Given the description of an element on the screen output the (x, y) to click on. 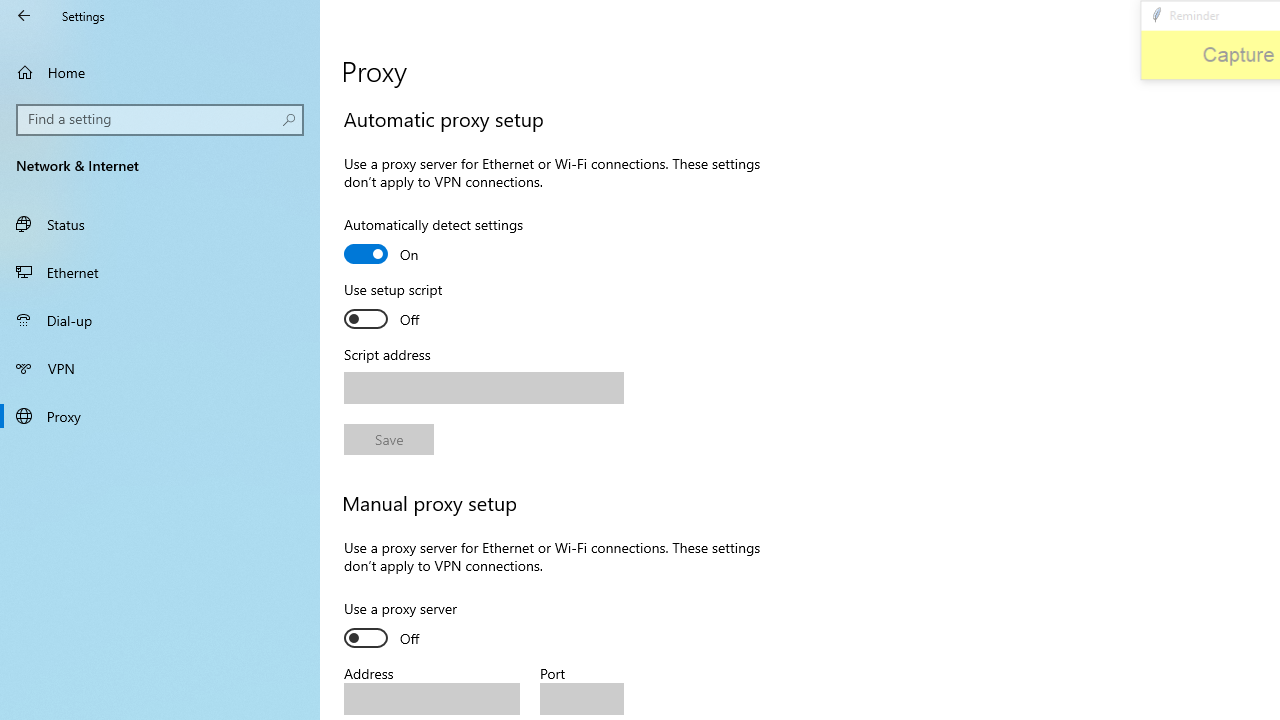
Use setup script (417, 307)
Automatically detect settings (433, 242)
Home (160, 71)
VPN (160, 367)
Proxy (160, 415)
Status (160, 223)
Search box, Find a setting (160, 119)
Script address (484, 387)
Port (582, 698)
Save (388, 439)
Use a proxy server (417, 626)
Address (431, 698)
Ethernet (160, 271)
Dial-up (160, 319)
